Given the description of an element on the screen output the (x, y) to click on. 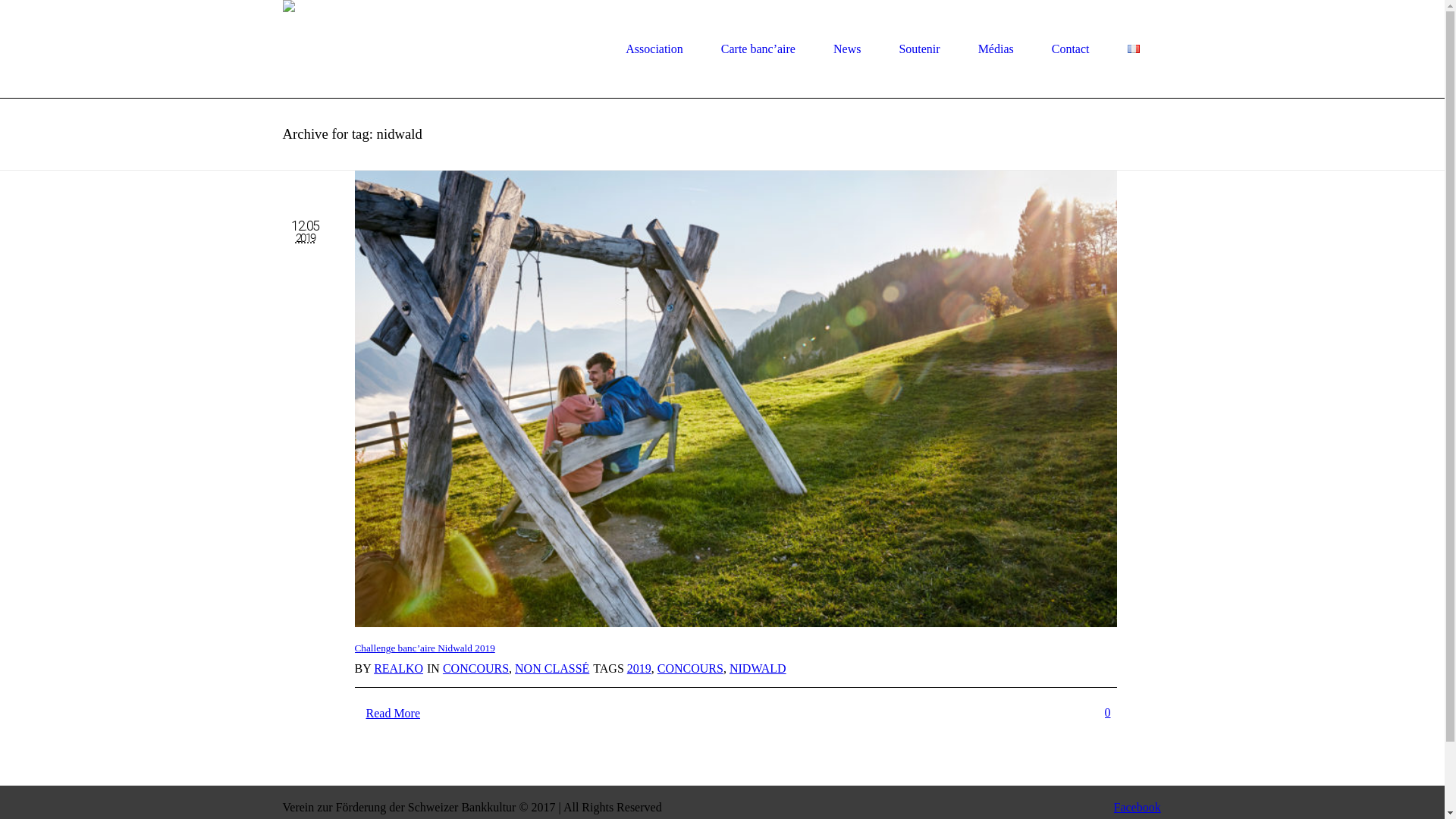
Facebook Element type: text (1137, 806)
CONCOURS Element type: text (475, 668)
2019 Element type: text (639, 668)
Read More Element type: text (393, 713)
REALKO Element type: text (398, 668)
Soutenir Element type: text (918, 49)
Association Element type: text (654, 49)
NIDWALD Element type: text (757, 668)
Contact Element type: text (1070, 49)
News Element type: text (846, 49)
0 Element type: text (1110, 712)
CONCOURS Element type: text (690, 668)
